Given the description of an element on the screen output the (x, y) to click on. 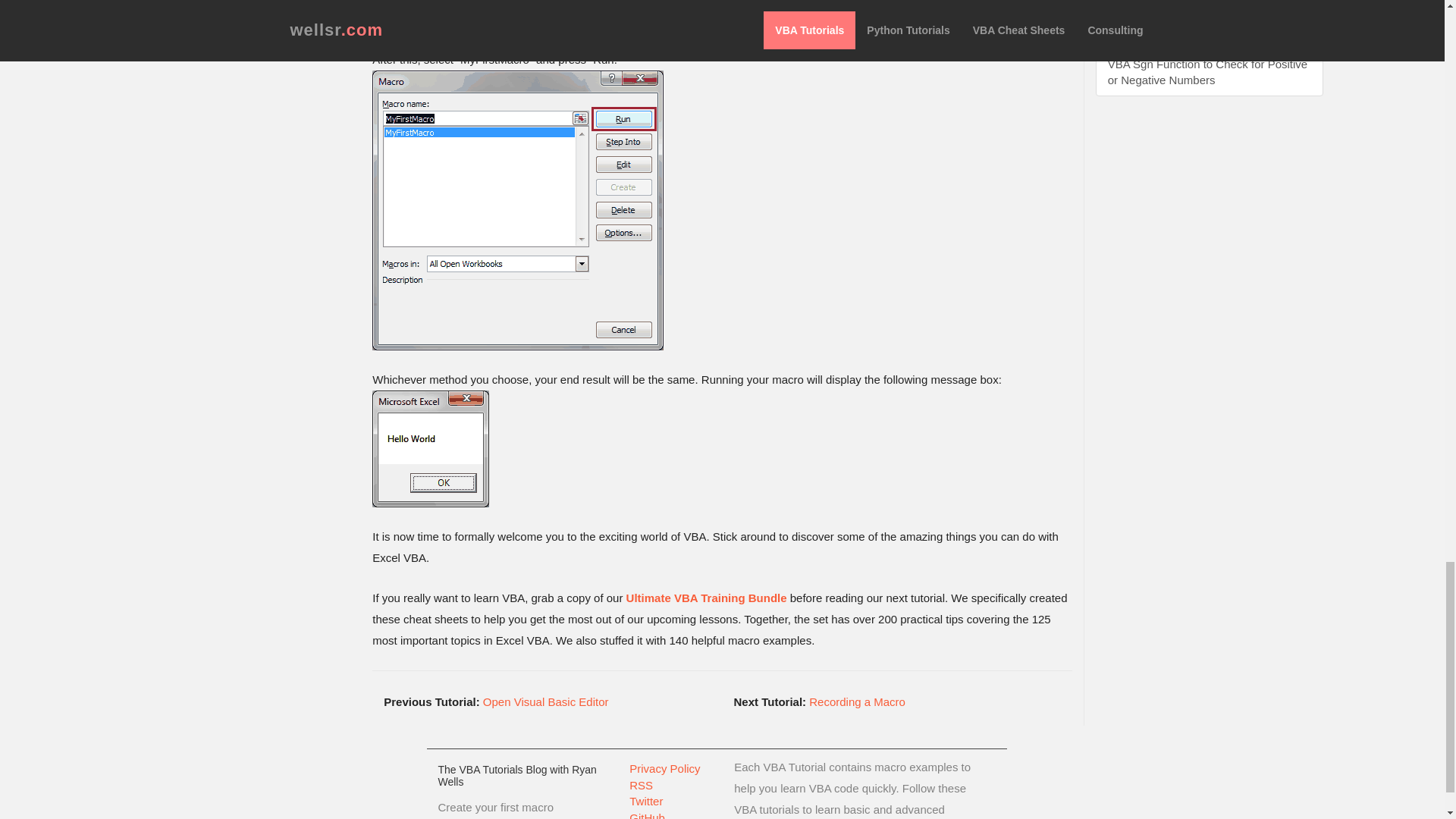
Open Visual Basic Editor (545, 701)
Recording a Macro (857, 701)
Ultimate VBA Training Bundle (706, 597)
